Given the description of an element on the screen output the (x, y) to click on. 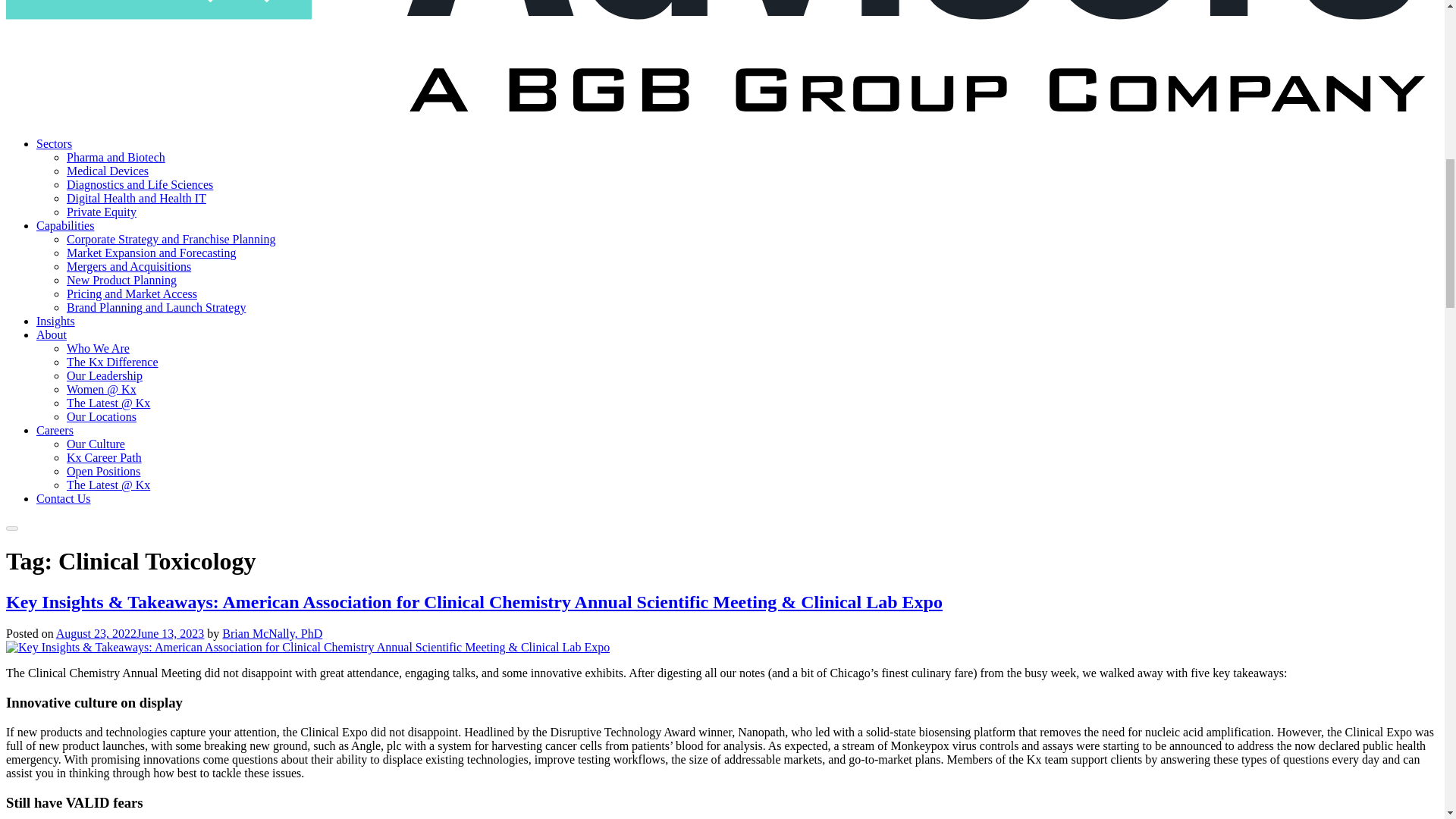
Digital Health and Health IT (136, 197)
Pharma and Biotech (115, 156)
Our Culture (95, 443)
August 23, 2022June 13, 2023 (130, 633)
About (51, 334)
Our Locations (101, 416)
Medical Devices (107, 170)
Open Positions (102, 471)
New Product Planning (121, 279)
Careers (55, 430)
Our Leadership (104, 375)
Capabilities (65, 225)
Pricing and Market Access (131, 293)
Sectors (53, 143)
Who We Are (97, 348)
